Given the description of an element on the screen output the (x, y) to click on. 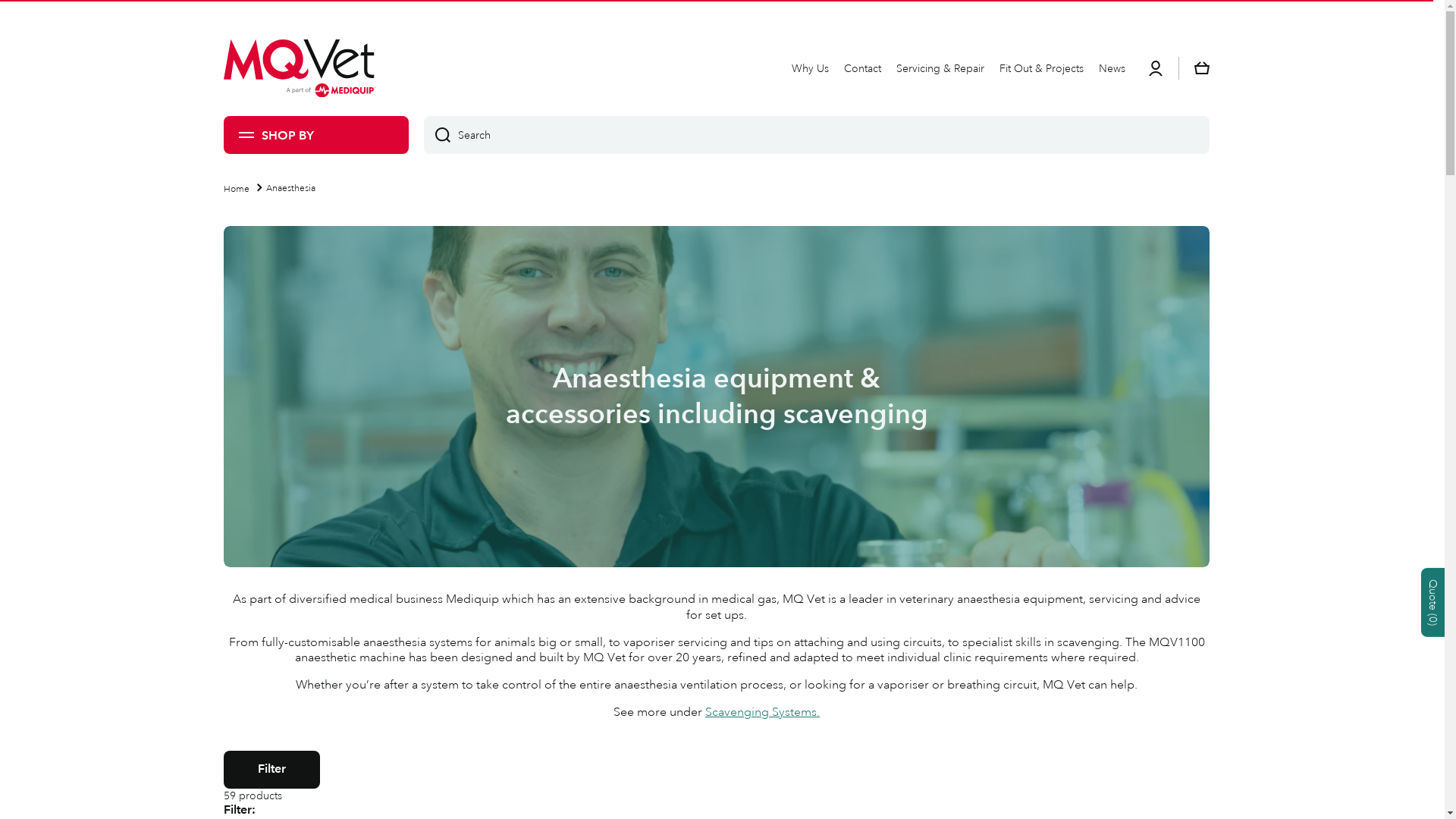
Scavenging Systems. Element type: text (762, 711)
Cart Element type: text (1201, 67)
Why Us Element type: text (809, 68)
Contact Element type: text (862, 68)
Home Element type: text (236, 188)
Fit Out & Projects Element type: text (1041, 68)
Servicing & Repair Element type: text (940, 68)
News Element type: text (1111, 68)
Log in Element type: text (1155, 67)
